Given the description of an element on the screen output the (x, y) to click on. 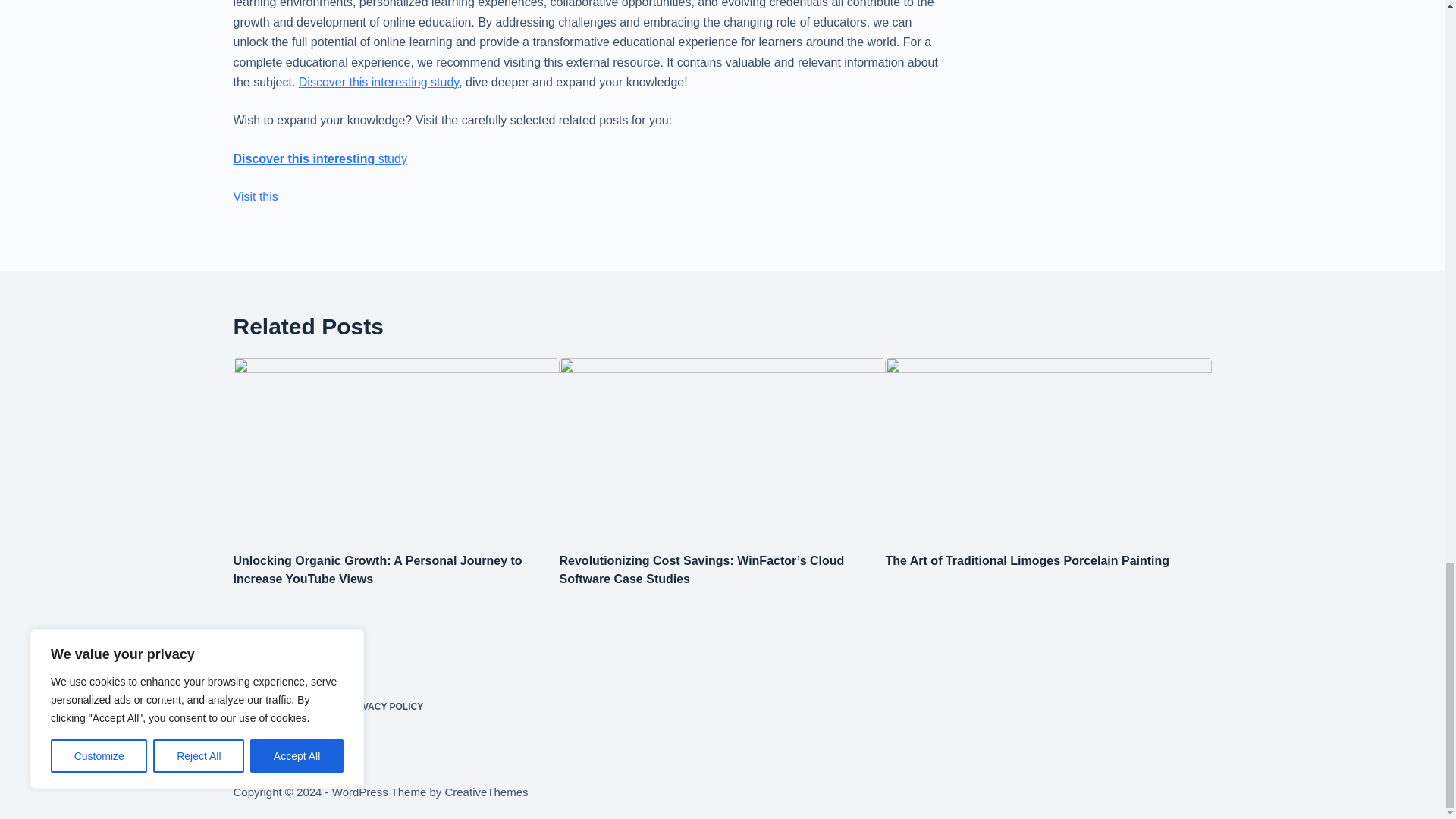
Discover this interesting study (378, 82)
Discover this interesting study (319, 158)
Visit this (255, 196)
